Given the description of an element on the screen output the (x, y) to click on. 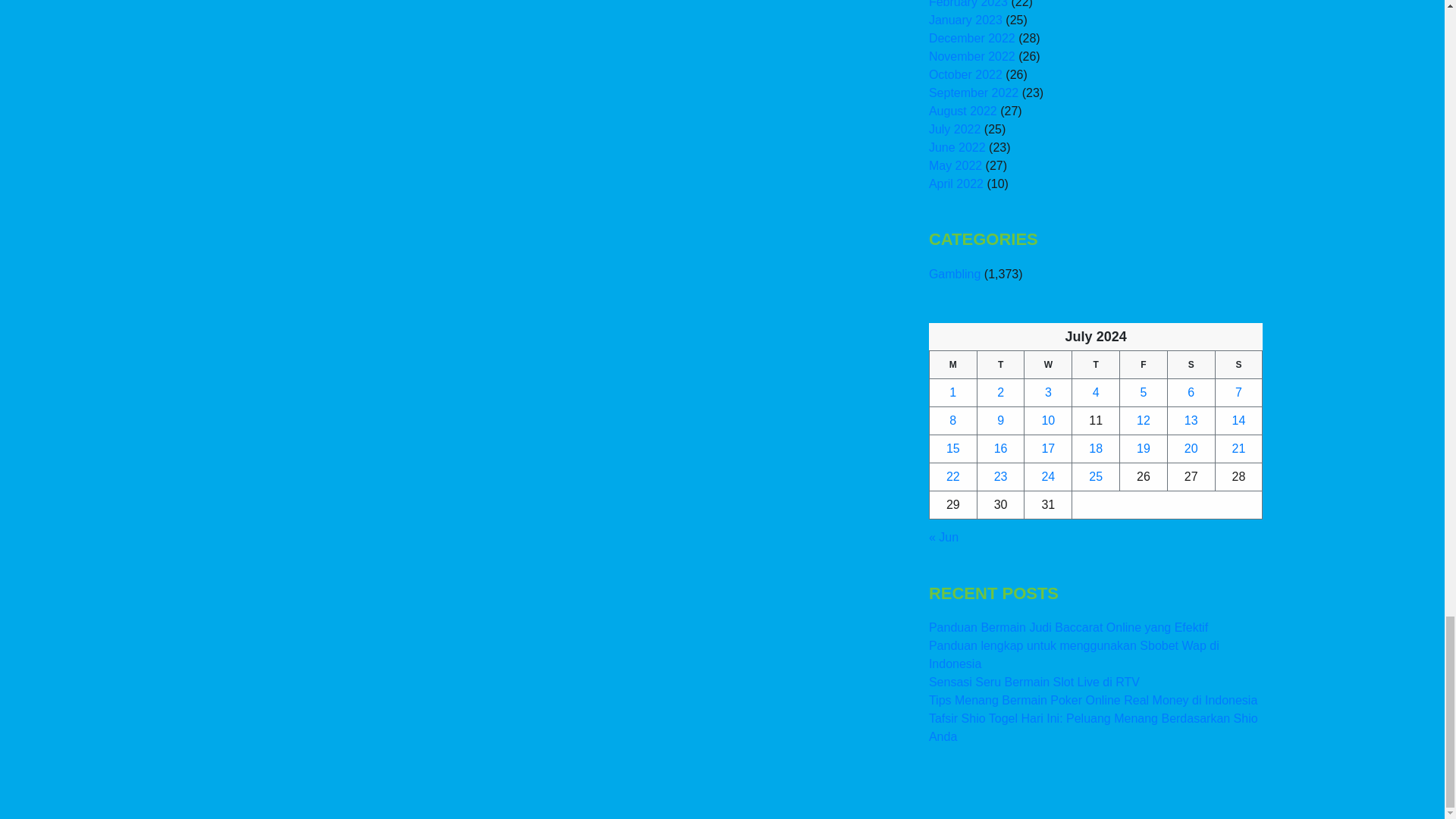
Friday (1143, 364)
Thursday (1095, 364)
July 2022 (954, 128)
June 2022 (956, 146)
October 2022 (965, 74)
Sunday (1238, 364)
September 2022 (972, 92)
Saturday (1190, 364)
November 2022 (971, 56)
January 2023 (965, 19)
May 2022 (954, 164)
February 2023 (967, 4)
August 2022 (962, 110)
Wednesday (1048, 364)
December 2022 (971, 38)
